Given the description of an element on the screen output the (x, y) to click on. 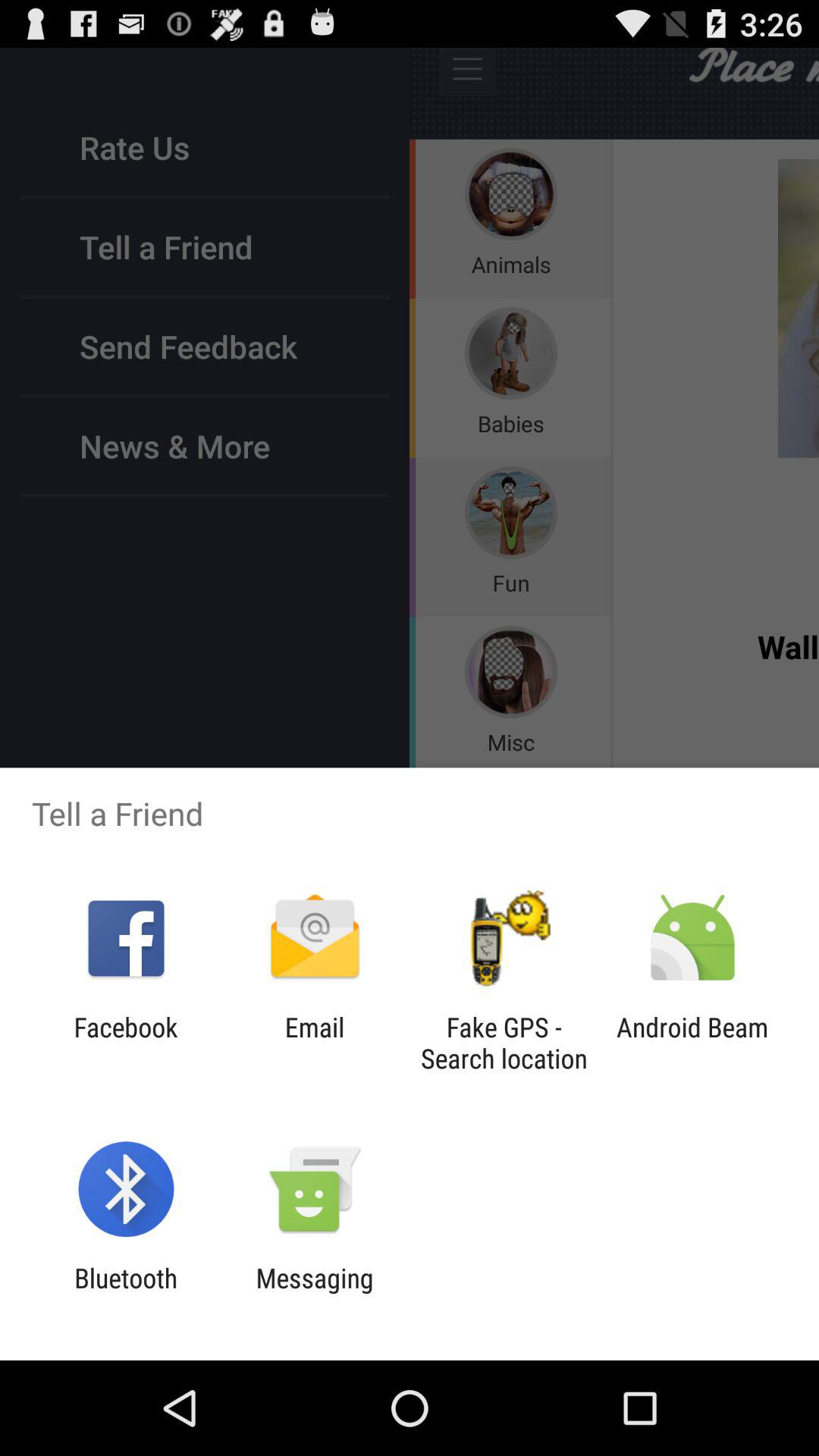
press the app to the right of bluetooth icon (314, 1293)
